Given the description of an element on the screen output the (x, y) to click on. 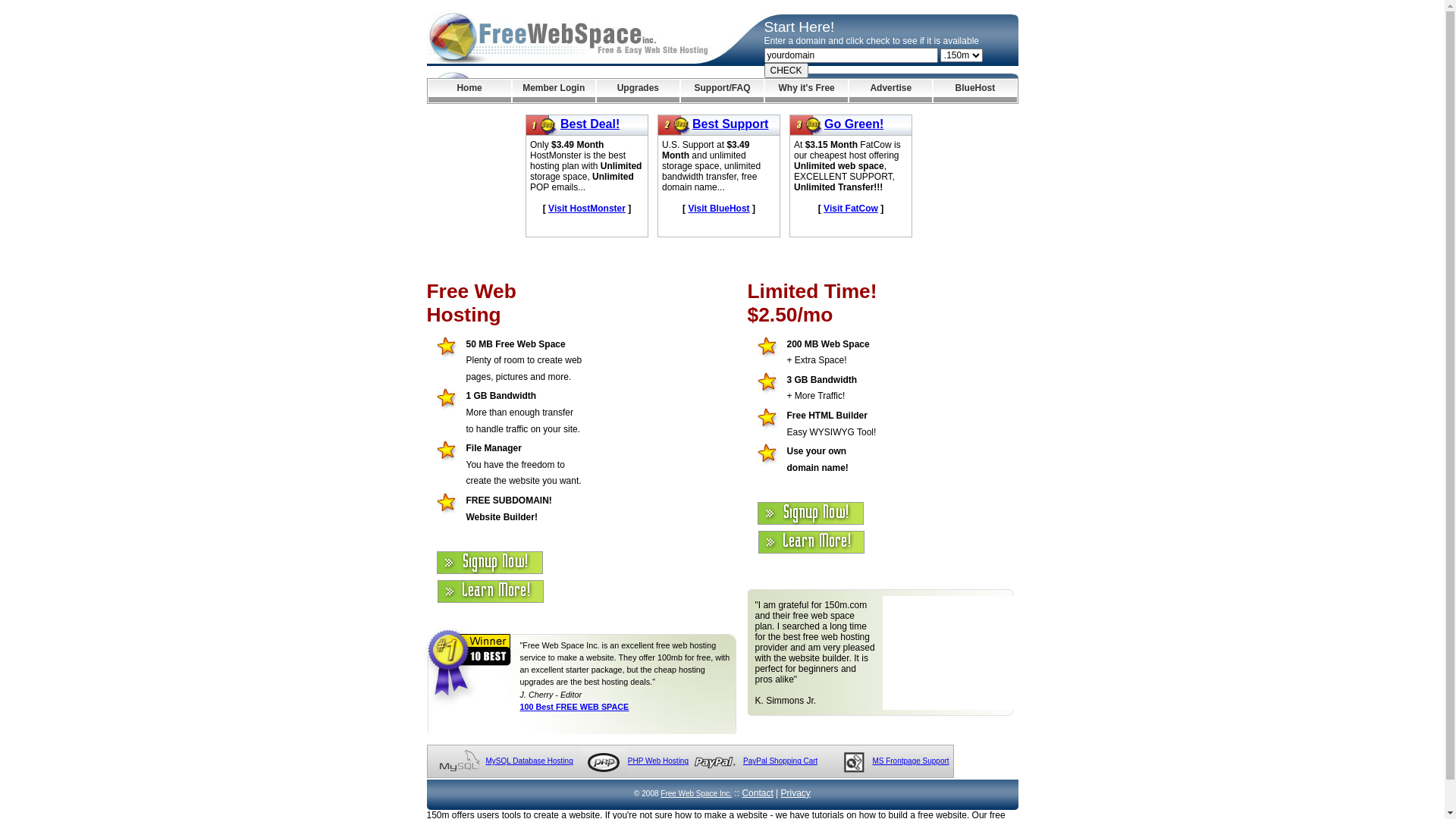
Upgrades Element type: text (637, 90)
Member Login Element type: text (553, 90)
Privacy Element type: text (795, 792)
Support/FAQ Element type: text (721, 90)
BlueHost Element type: text (974, 90)
PayPal Shopping Cart Element type: text (780, 760)
100 Best FREE WEB SPACE Element type: text (574, 706)
MS Frontpage Support Element type: text (910, 760)
Contact Element type: text (756, 792)
CHECK Element type: text (786, 70)
Why it's Free Element type: text (806, 90)
MySQL Database Hosting Element type: text (528, 760)
Free Web Space Inc. Element type: text (695, 793)
PHP Web Hosting Element type: text (657, 760)
Advertise Element type: text (890, 90)
Home Element type: text (468, 90)
